Given the description of an element on the screen output the (x, y) to click on. 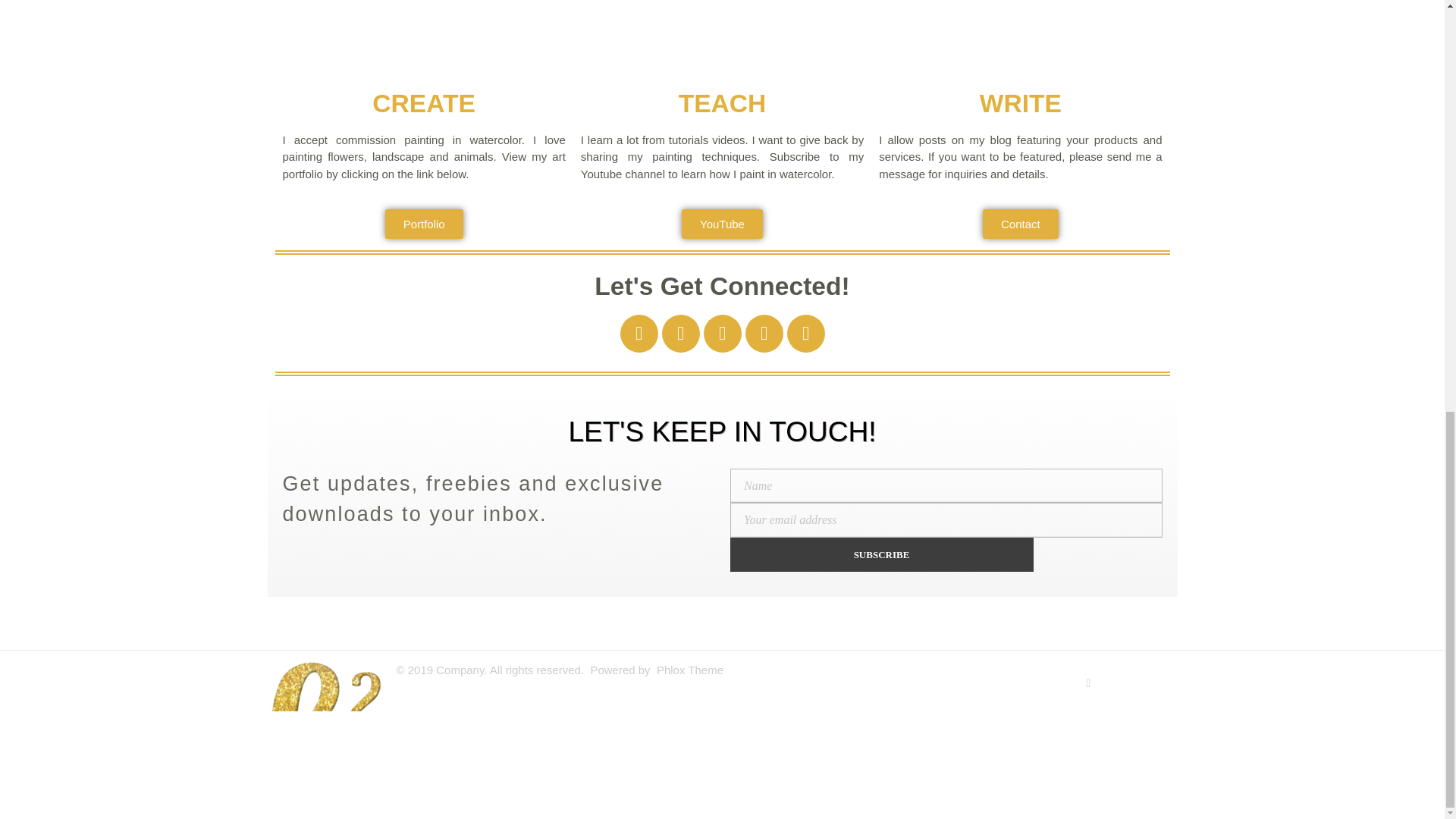
Portfolio (424, 224)
Subscribe (880, 554)
Subscribe (880, 554)
YouTube (721, 224)
Contact (1020, 224)
